Given the description of an element on the screen output the (x, y) to click on. 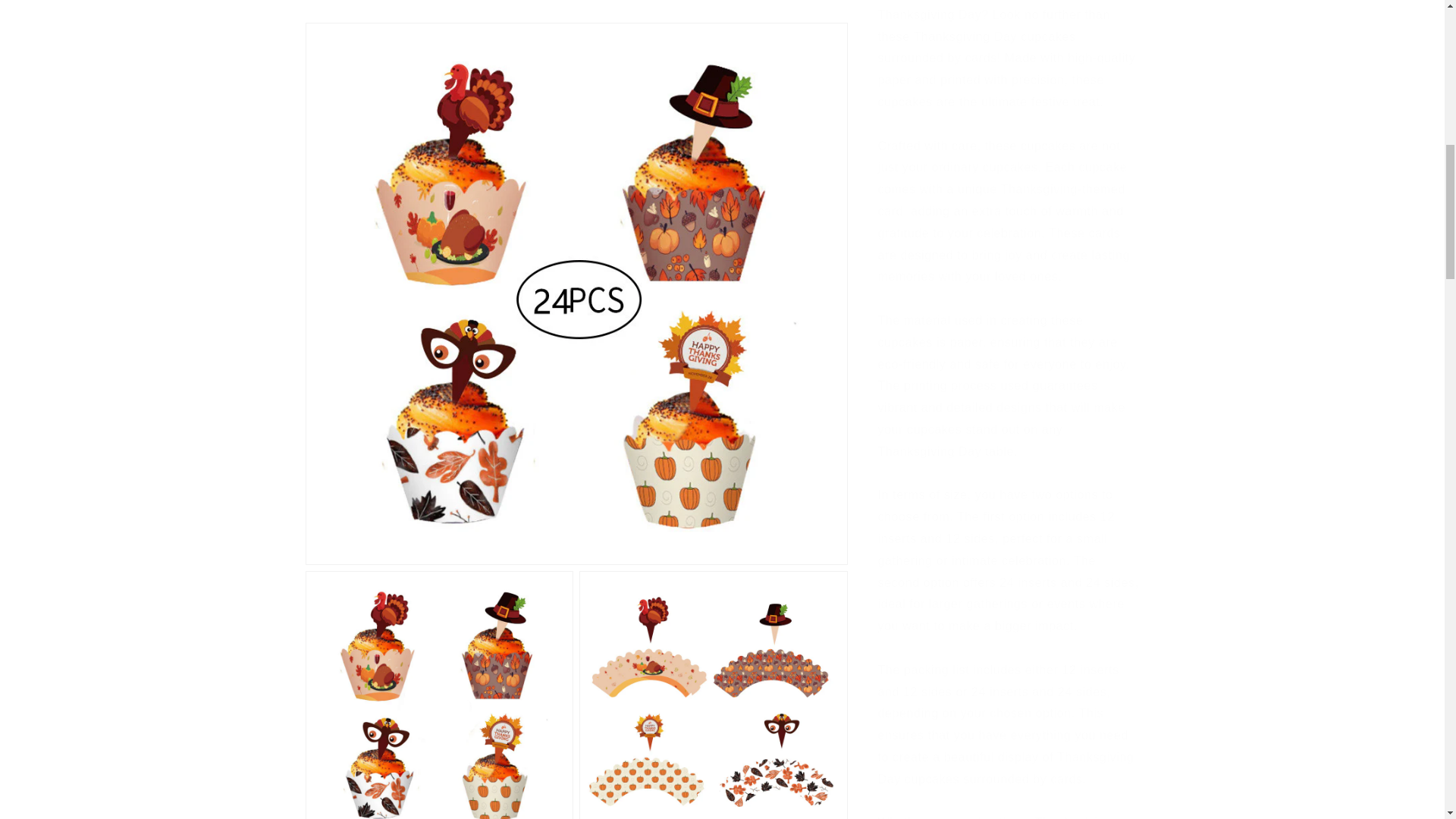
Open media 2 in modal (438, 68)
Open media 3 in modal (713, 68)
Open media 5 in modal (713, 276)
Open media 4 in modal (438, 276)
